Given the description of an element on the screen output the (x, y) to click on. 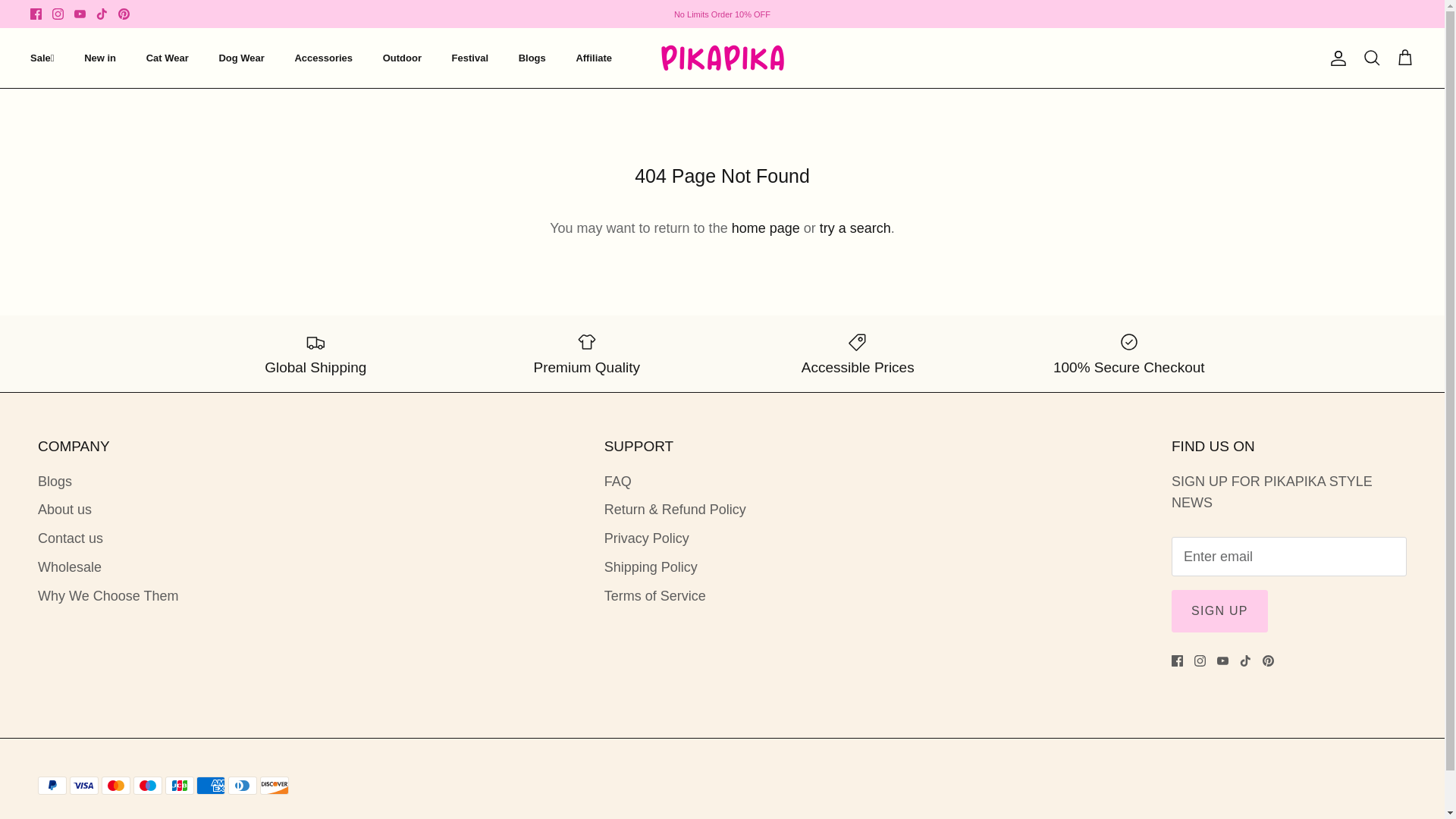
Festival (470, 58)
Instagram (58, 13)
Facebook (1177, 660)
Facebook (36, 13)
Youtube (79, 13)
Search (1371, 57)
Facebook (36, 13)
Affiliate (594, 58)
Cat Wear (167, 58)
Account (1335, 57)
